Given the description of an element on the screen output the (x, y) to click on. 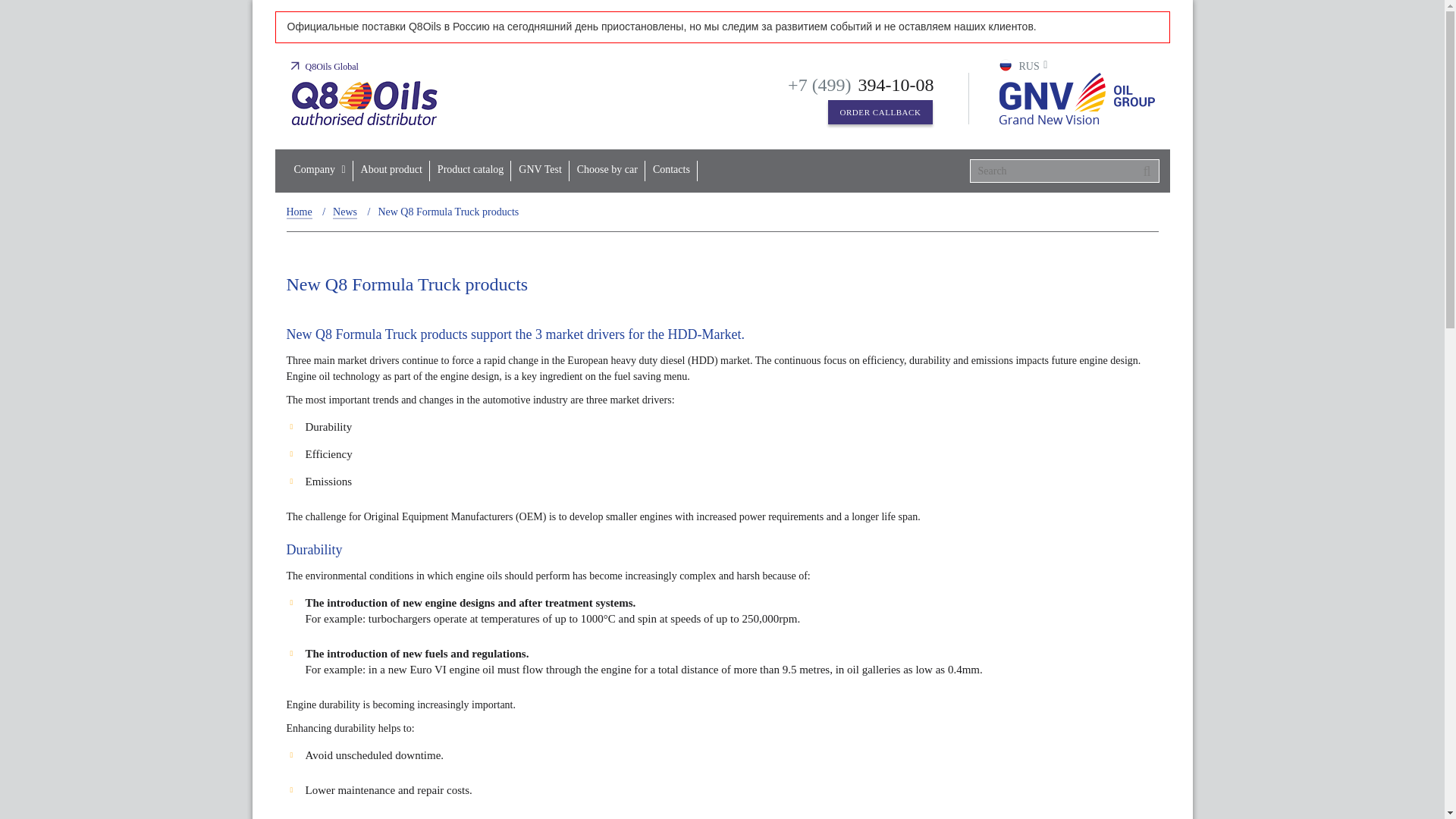
GNV Test (539, 170)
About product (391, 170)
ORDER CALLBACK (879, 112)
Q8Oils Global (323, 66)
News (344, 213)
News (344, 213)
Product catalog (470, 170)
Home (299, 213)
RUS (1023, 66)
Company (320, 170)
Choose by car (606, 170)
Home (299, 213)
